Given the description of an element on the screen output the (x, y) to click on. 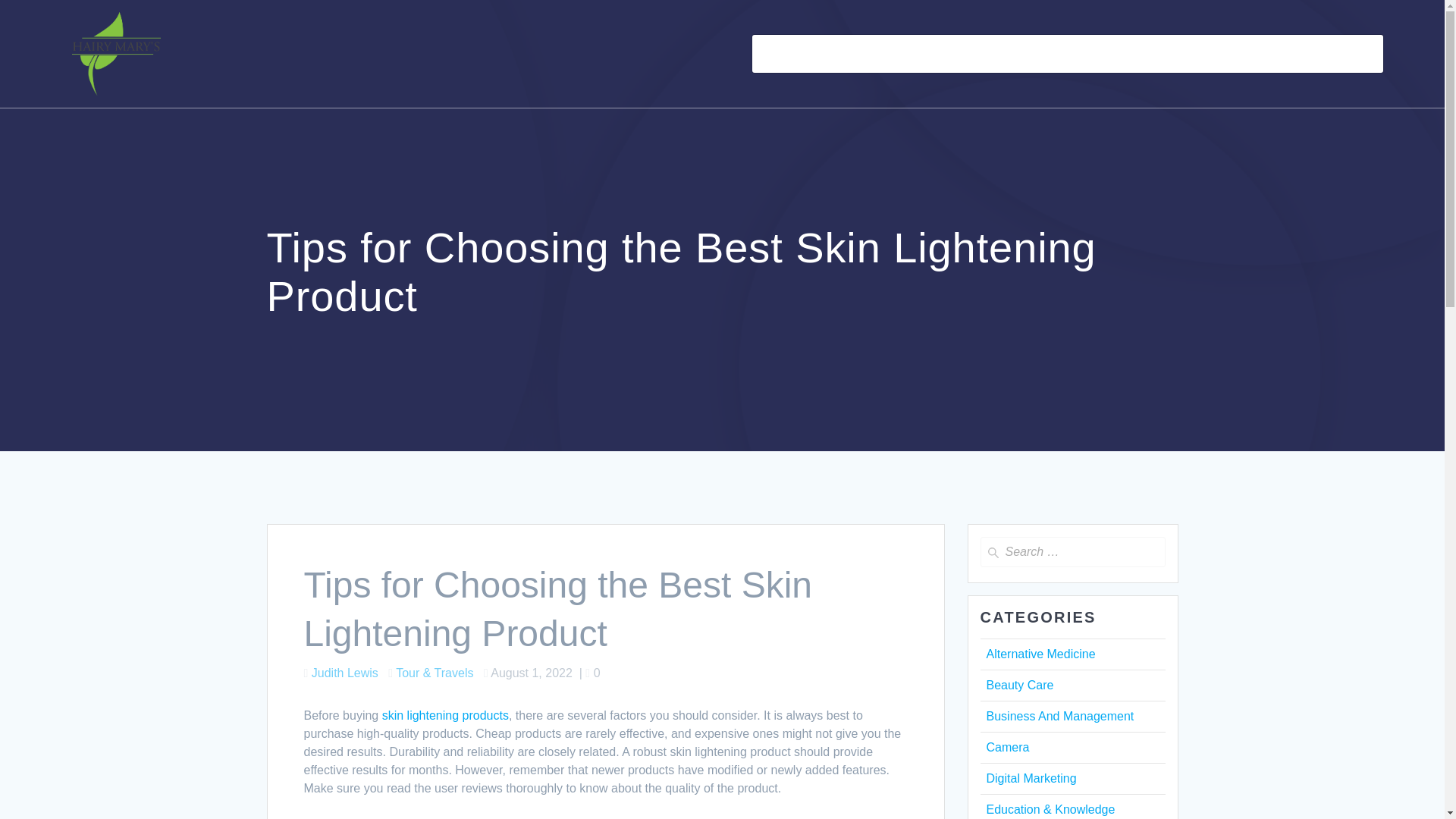
HOME (778, 53)
Camera (1007, 747)
skin lightening products (444, 715)
Judith Lewis (344, 672)
Digital Marketing (1030, 778)
PRIVACY POLICY (1322, 53)
Alternative Medicine (1039, 653)
Posts by Judith Lewis (344, 672)
Beauty Care (1018, 684)
ABOUT US (1143, 53)
CONTACT (1224, 53)
BLOG (833, 53)
BEAUTY CARE (914, 53)
Business And Management (1059, 716)
